Given the description of an element on the screen output the (x, y) to click on. 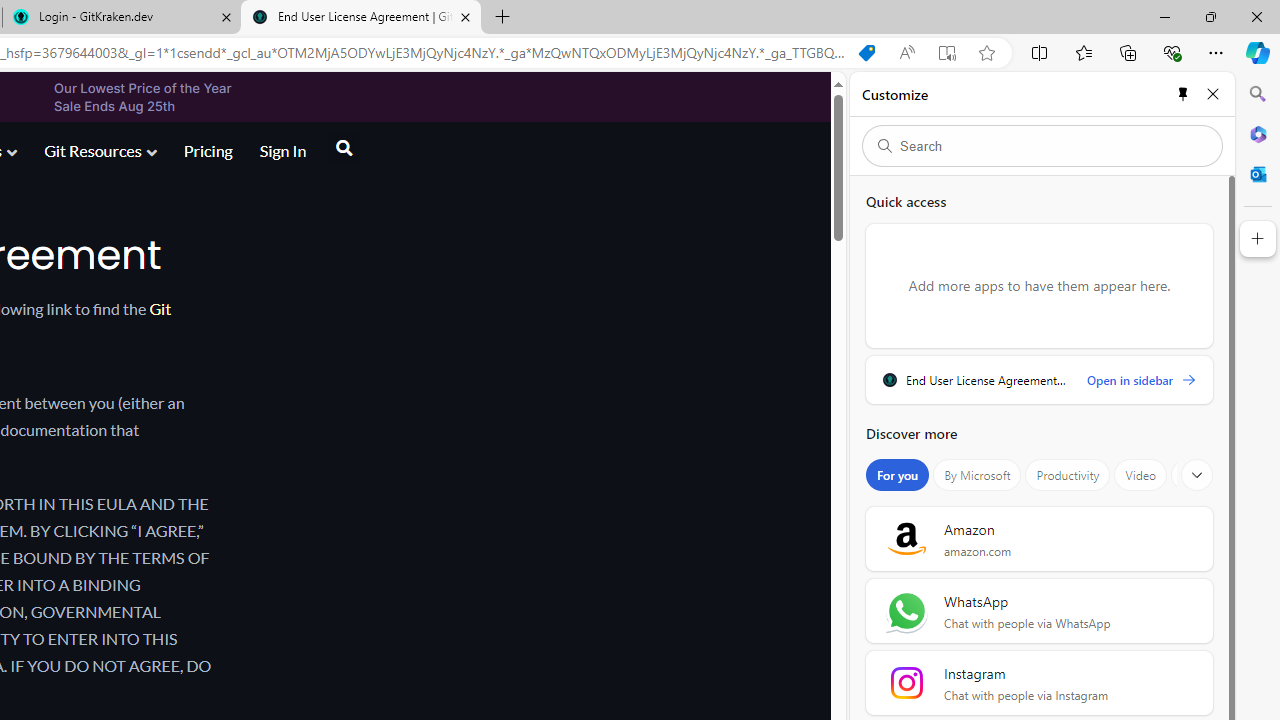
By Microsoft (977, 475)
Productivity (1068, 475)
Show more (1197, 475)
End User License Agreement | GitKraken (360, 17)
